Given the description of an element on the screen output the (x, y) to click on. 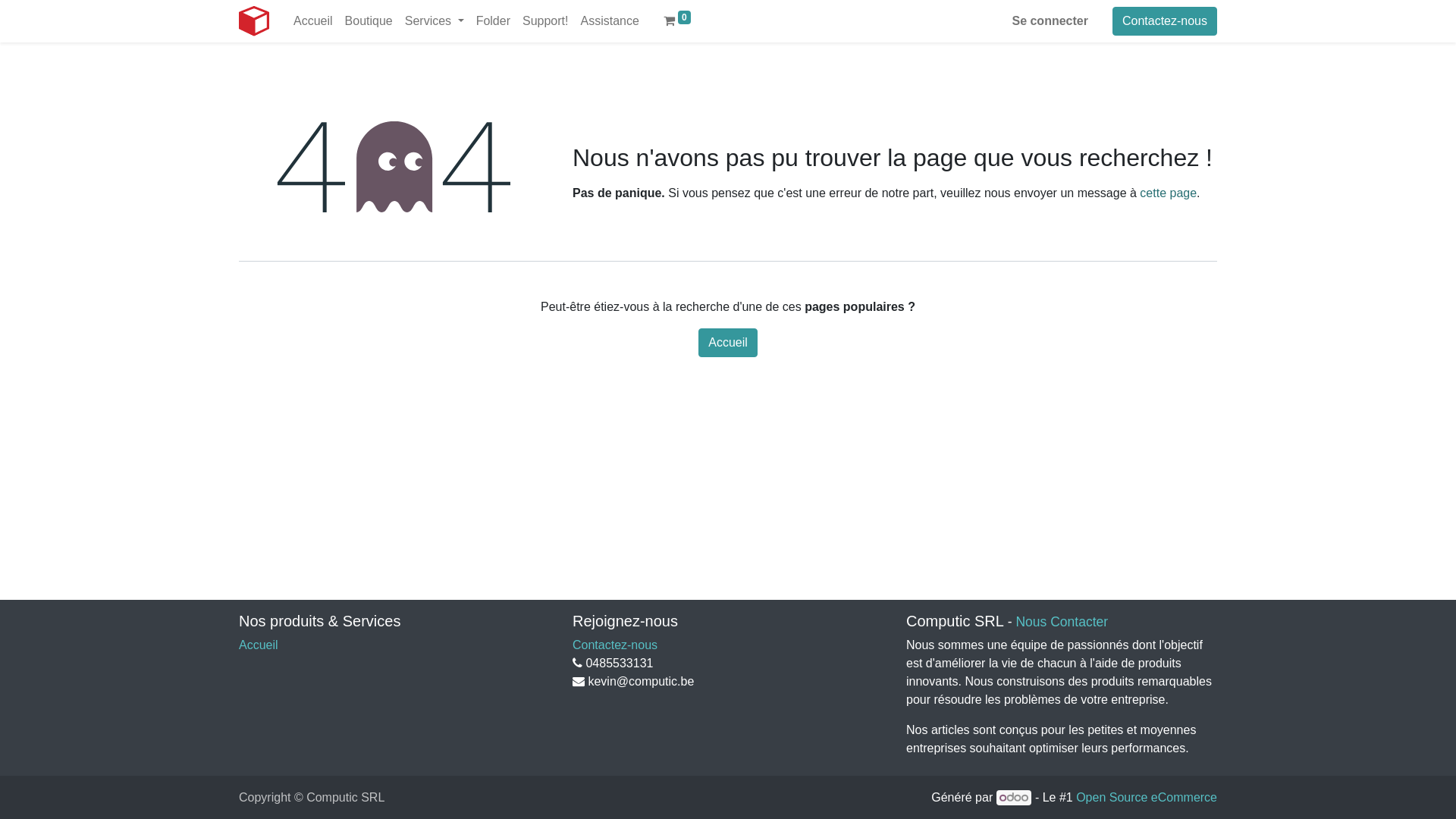
Se connecter Element type: text (1049, 21)
Assistance Element type: text (609, 21)
Open Source eCommerce Element type: text (1146, 796)
Folder Element type: text (493, 21)
Support! Element type: text (545, 21)
Services Element type: text (434, 21)
Accueil Element type: text (258, 644)
0 Element type: text (676, 21)
cette page Element type: text (1167, 192)
Computic SRL Element type: hover (253, 21)
Accueil Element type: text (727, 342)
Accueil Element type: text (312, 21)
Boutique Element type: text (368, 21)
Contactez-nous Element type: text (1164, 20)
Nous Contacter Element type: text (1061, 621)
Contactez-nous Element type: text (614, 644)
